Given the description of an element on the screen output the (x, y) to click on. 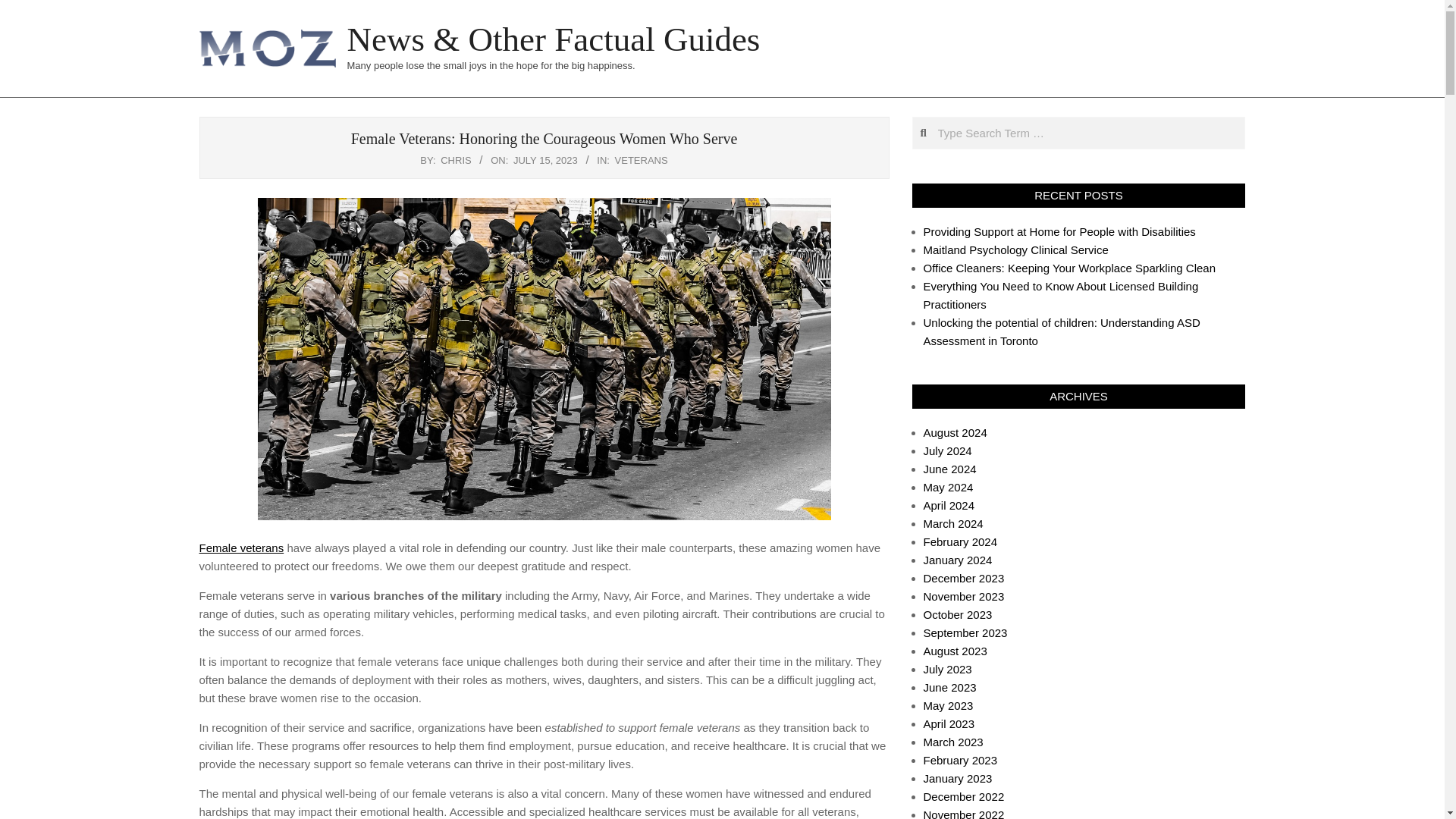
March 2024 (953, 522)
June 2023 (949, 686)
January 2023 (957, 778)
December 2023 (963, 577)
June 2024 (949, 468)
CHRIS (455, 160)
May 2023 (948, 705)
November 2023 (963, 595)
April 2024 (949, 504)
November 2022 (963, 813)
